Given the description of an element on the screen output the (x, y) to click on. 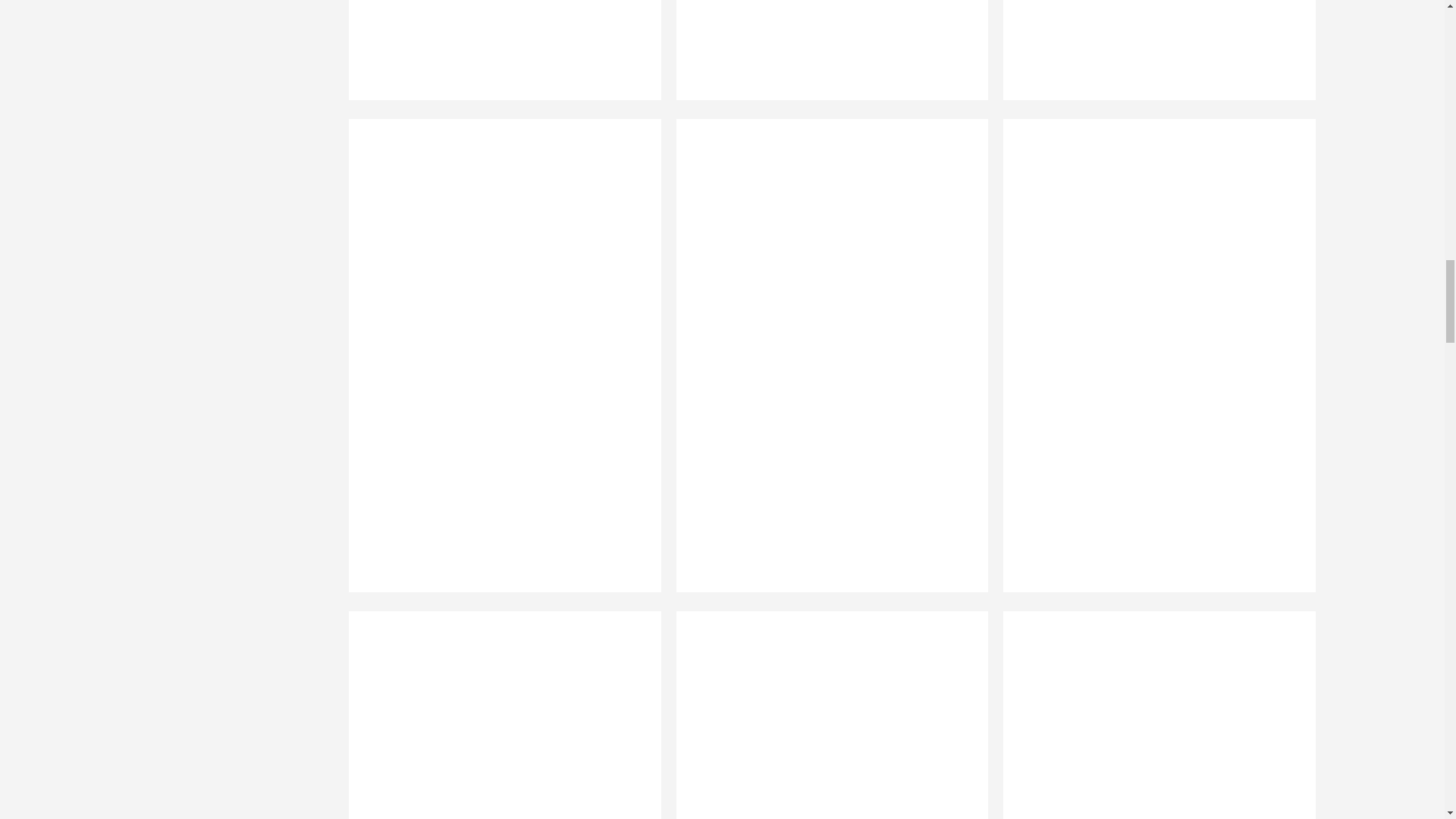
0 (1152, 714)
0 (824, 714)
0 (1152, 59)
0 (497, 714)
0 (824, 59)
0 (497, 59)
